Given the description of an element on the screen output the (x, y) to click on. 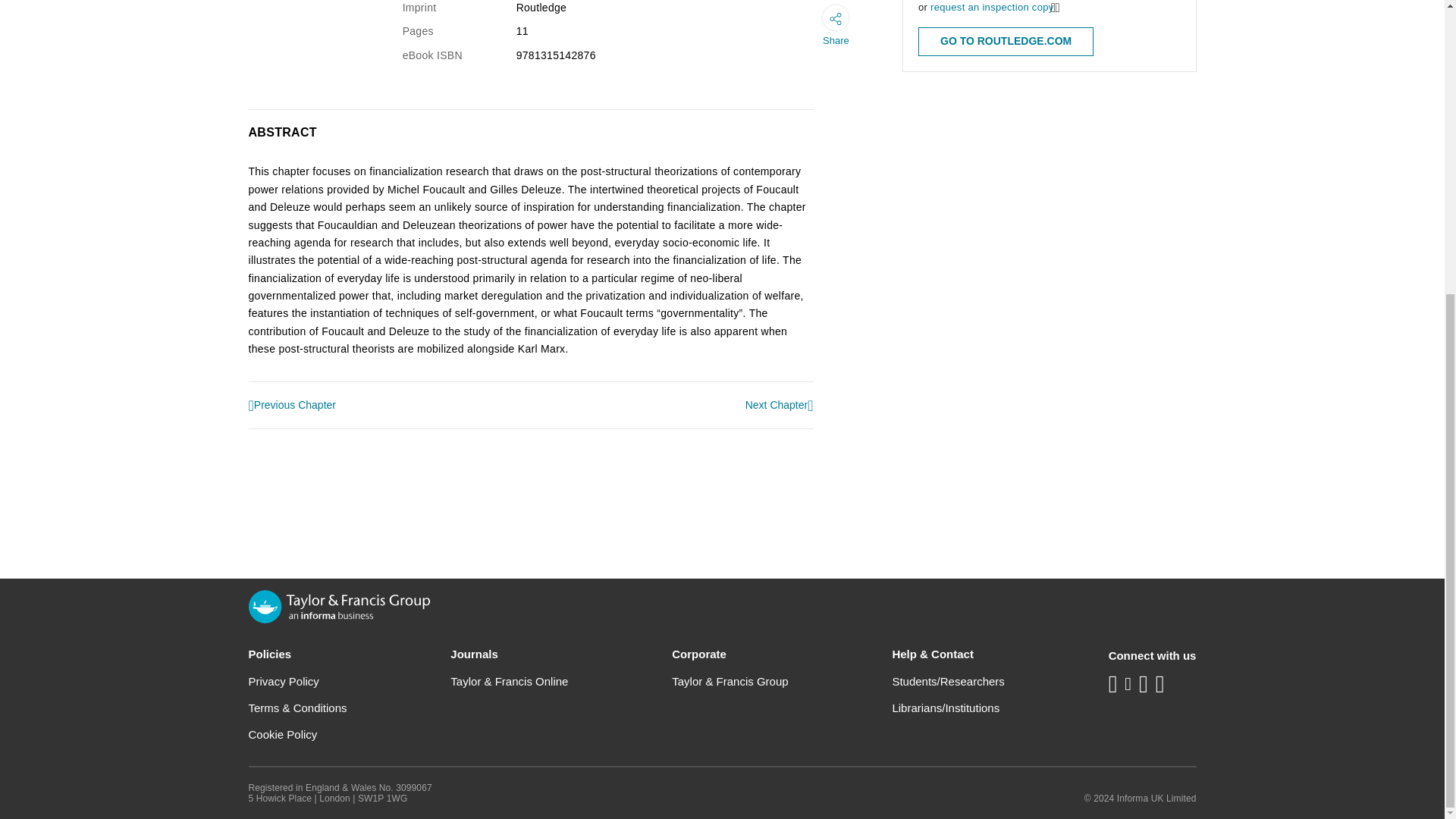
Financialization as a Socio-technical Process (779, 405)
Next Chapter (779, 405)
Previous Chapter (292, 406)
Financialization, Money and the State (292, 406)
Cookie Policy (282, 734)
GO TO ROUTLEDGE.COM (1005, 41)
request an inspection copy (991, 7)
Privacy Policy (283, 681)
